Given the description of an element on the screen output the (x, y) to click on. 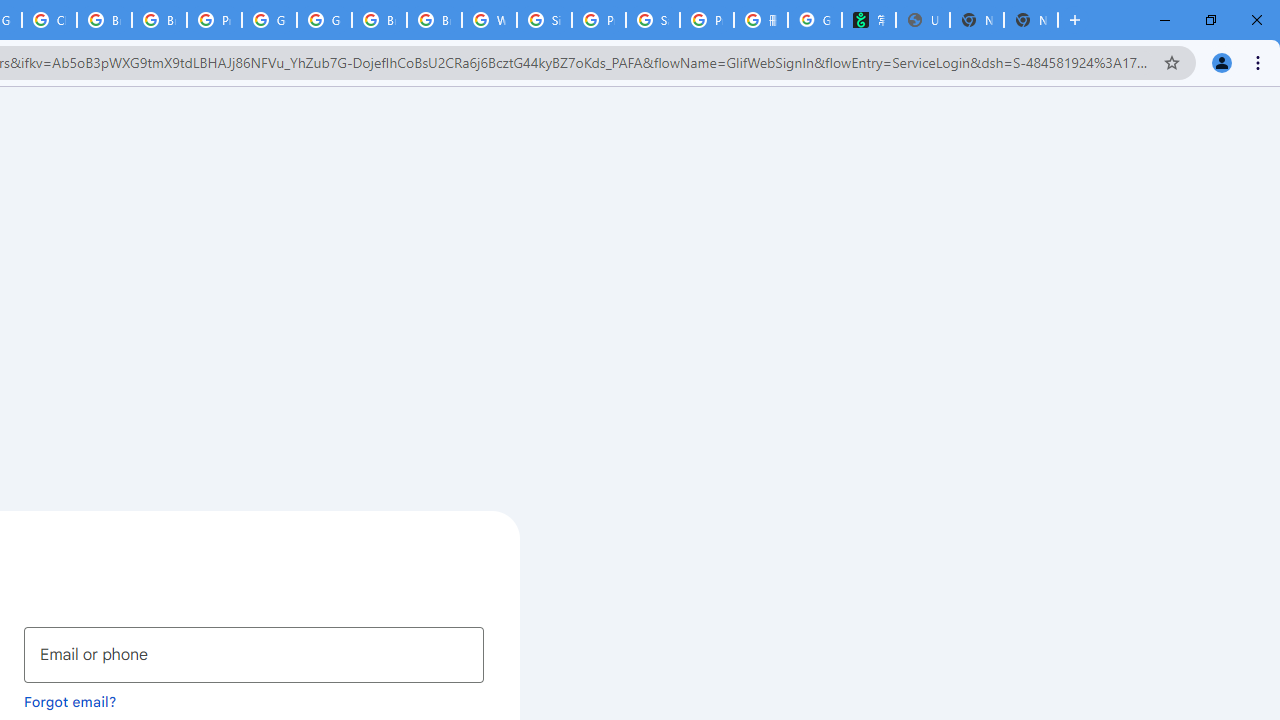
Browse Chrome as a guest - Computer - Google Chrome Help (158, 20)
Untitled (922, 20)
New Tab (1030, 20)
Google Cloud Platform (268, 20)
Sign in - Google Accounts (544, 20)
Email or phone (253, 654)
